Given the description of an element on the screen output the (x, y) to click on. 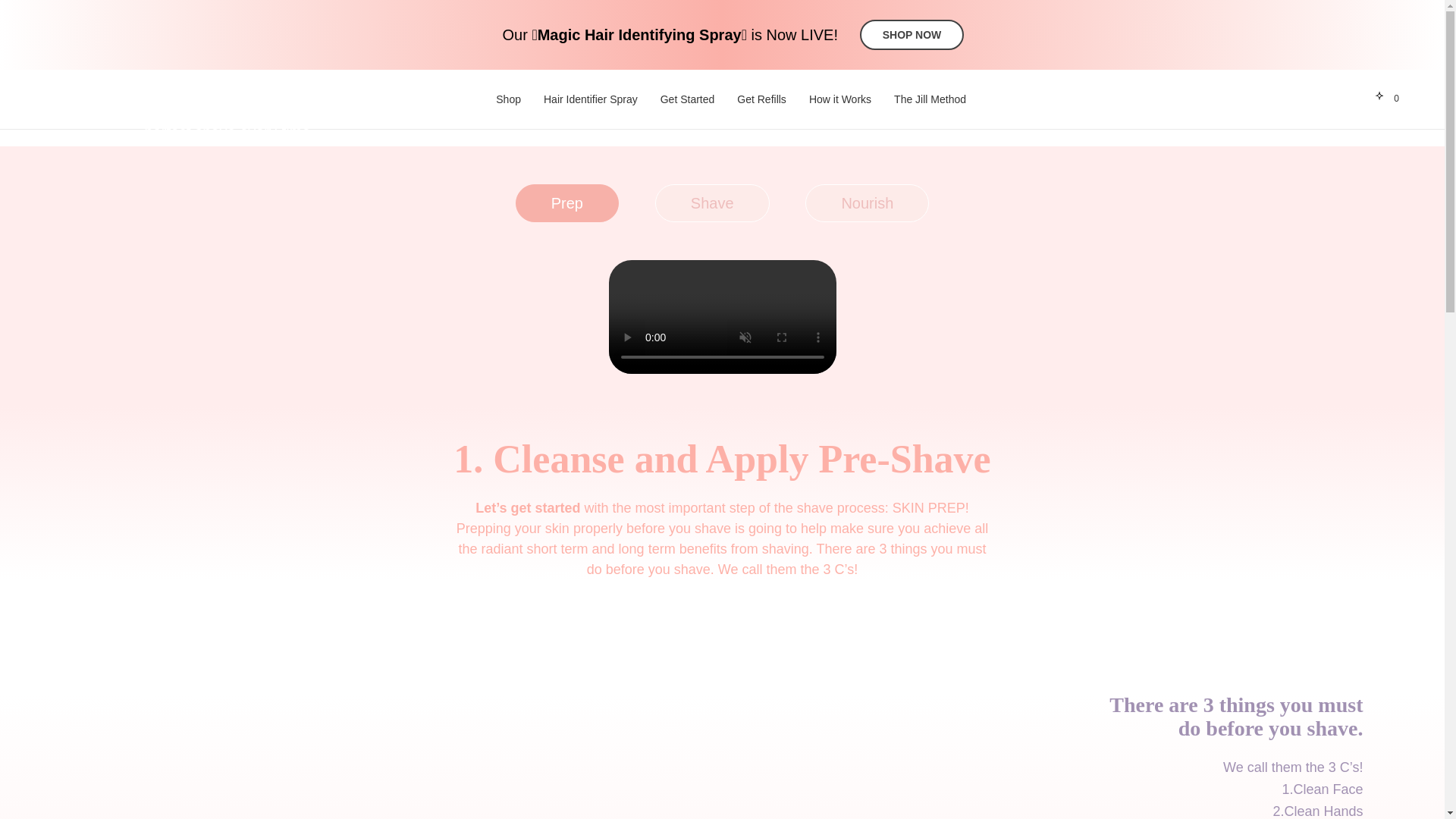
Get Refills (761, 99)
Prep (566, 202)
The Jill Method (929, 99)
Get Started (687, 99)
How it Works (839, 99)
SHOP NOW (911, 34)
Hair Identifier Spray (590, 99)
